Given the description of an element on the screen output the (x, y) to click on. 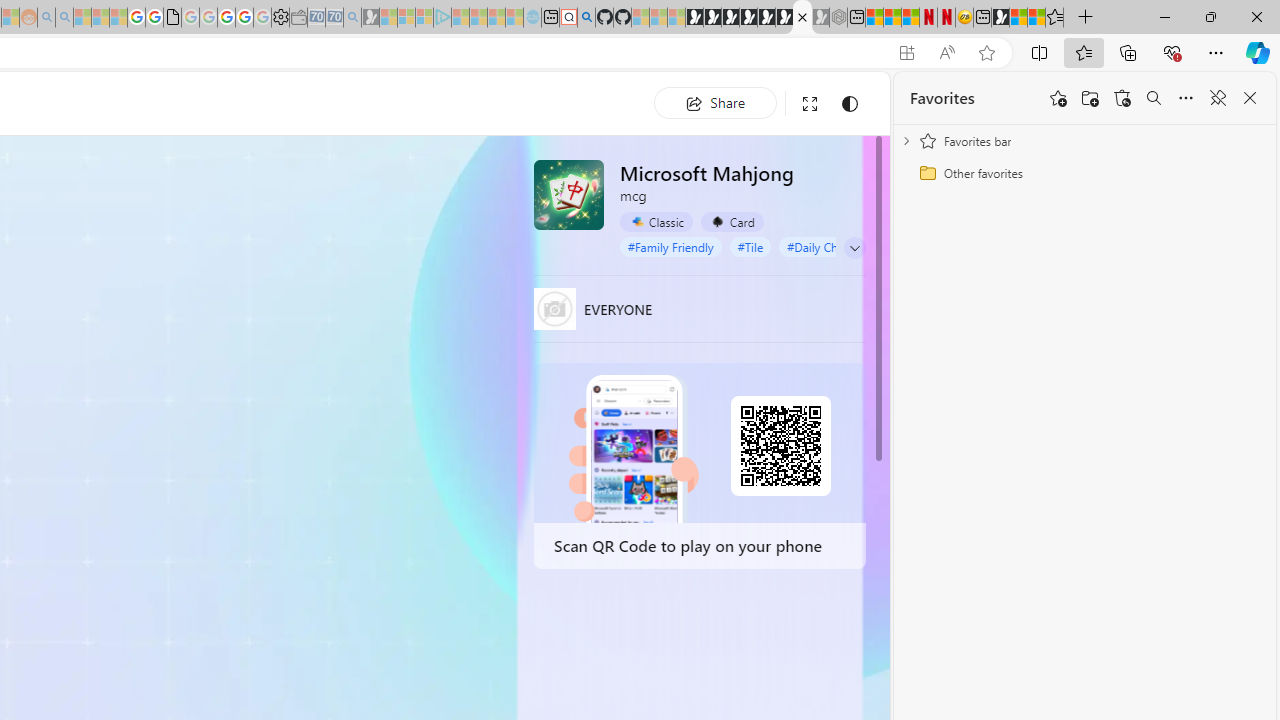
#Tile (750, 246)
Change to dark mode (849, 103)
Wildlife - MSN (1017, 17)
Microsoft Mahjong (568, 194)
Class: expand-arrow neutral (854, 247)
